Given the description of an element on the screen output the (x, y) to click on. 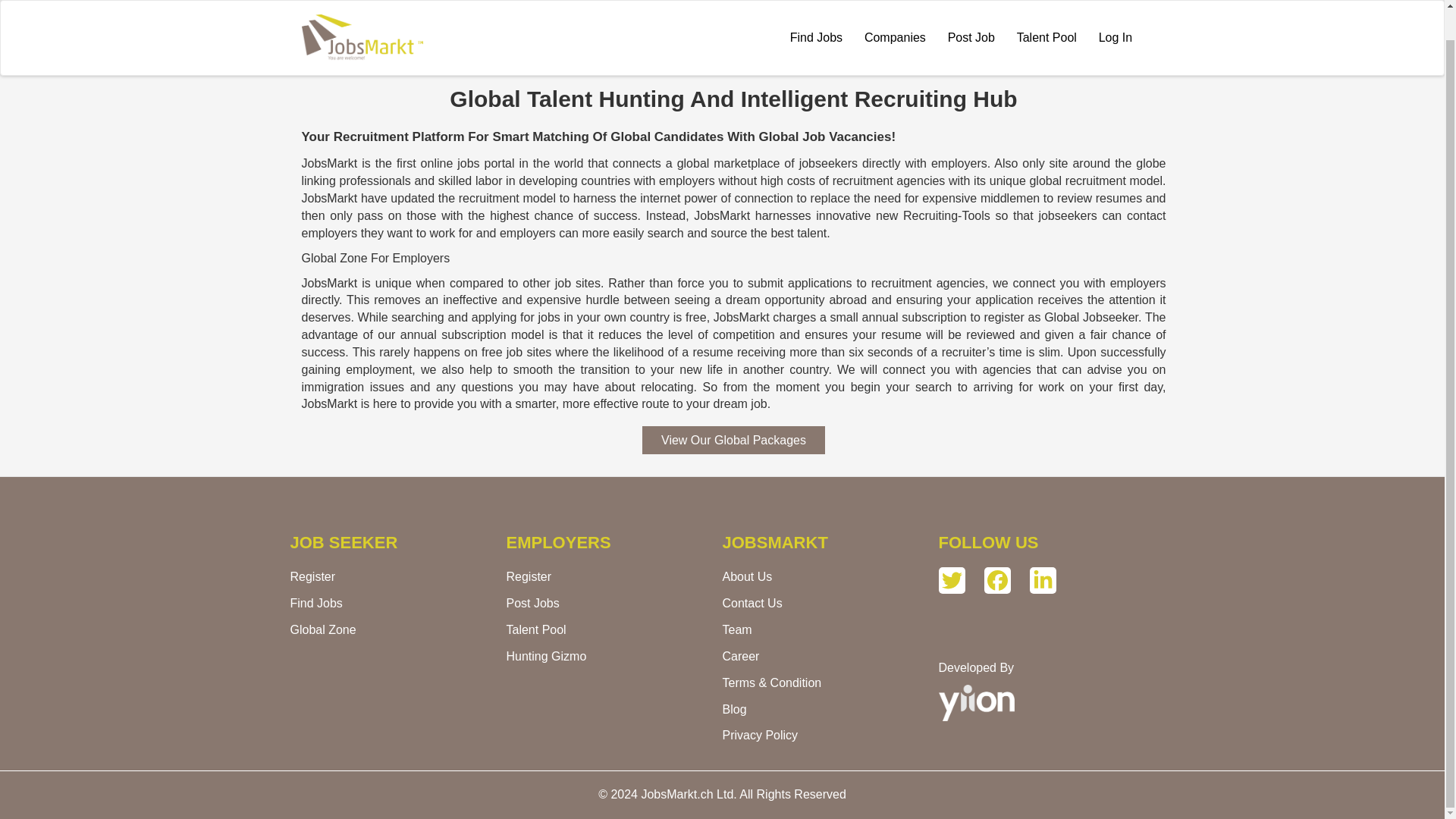
Find Jobs (315, 603)
Privacy Policy (759, 735)
Contact Us (751, 603)
Talent Pool  (538, 629)
Career (740, 656)
Register (528, 576)
Register (311, 576)
Global Zone (322, 629)
Home (367, 15)
Hunting Gizmo (546, 656)
Team (736, 629)
Blog (733, 708)
Talent Pool (1046, 12)
About Us (746, 576)
Companies (895, 12)
